Given the description of an element on the screen output the (x, y) to click on. 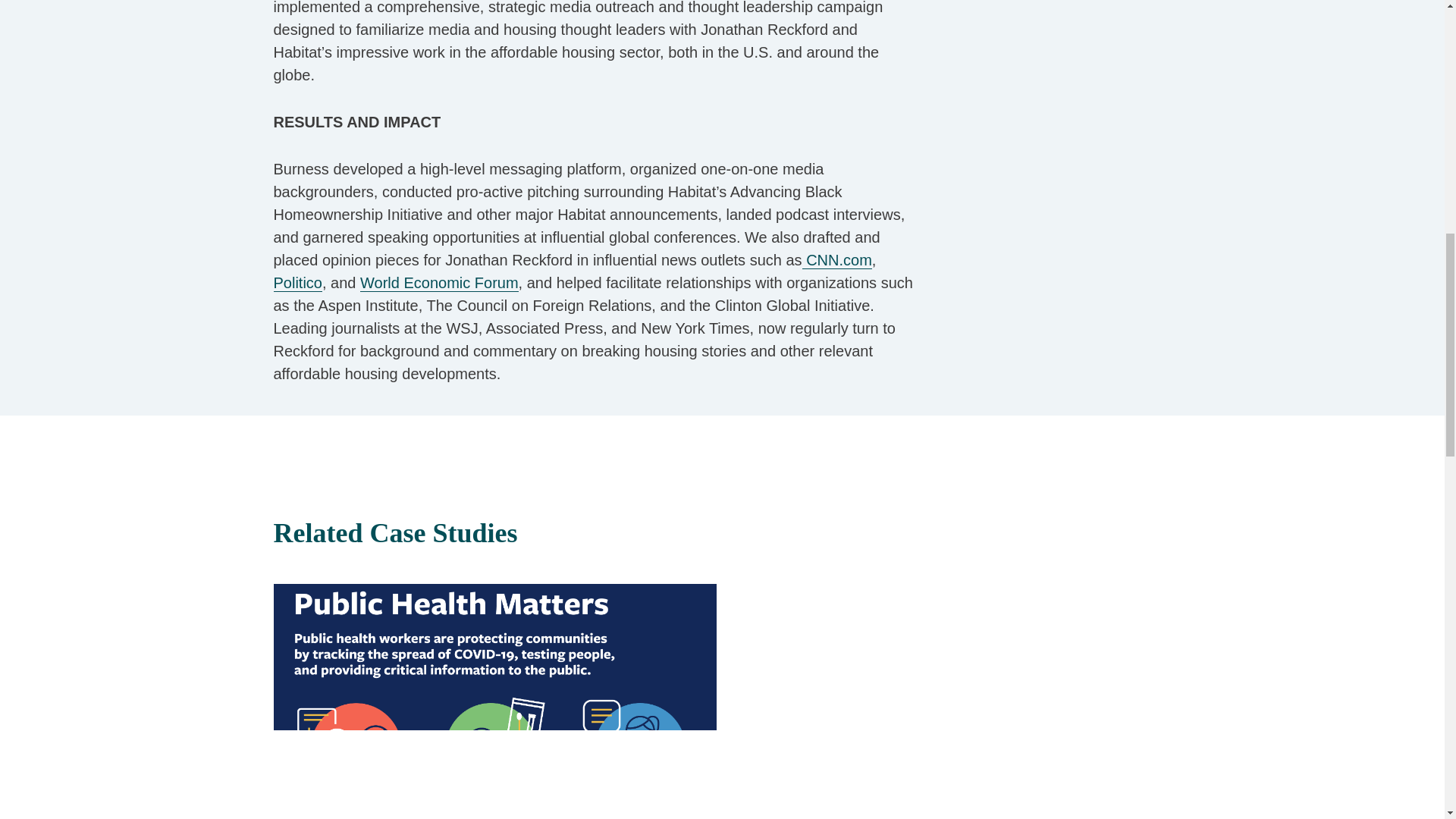
CNN.com (837, 260)
World Economic Forum (438, 282)
Politico (574, 294)
